Given the description of an element on the screen output the (x, y) to click on. 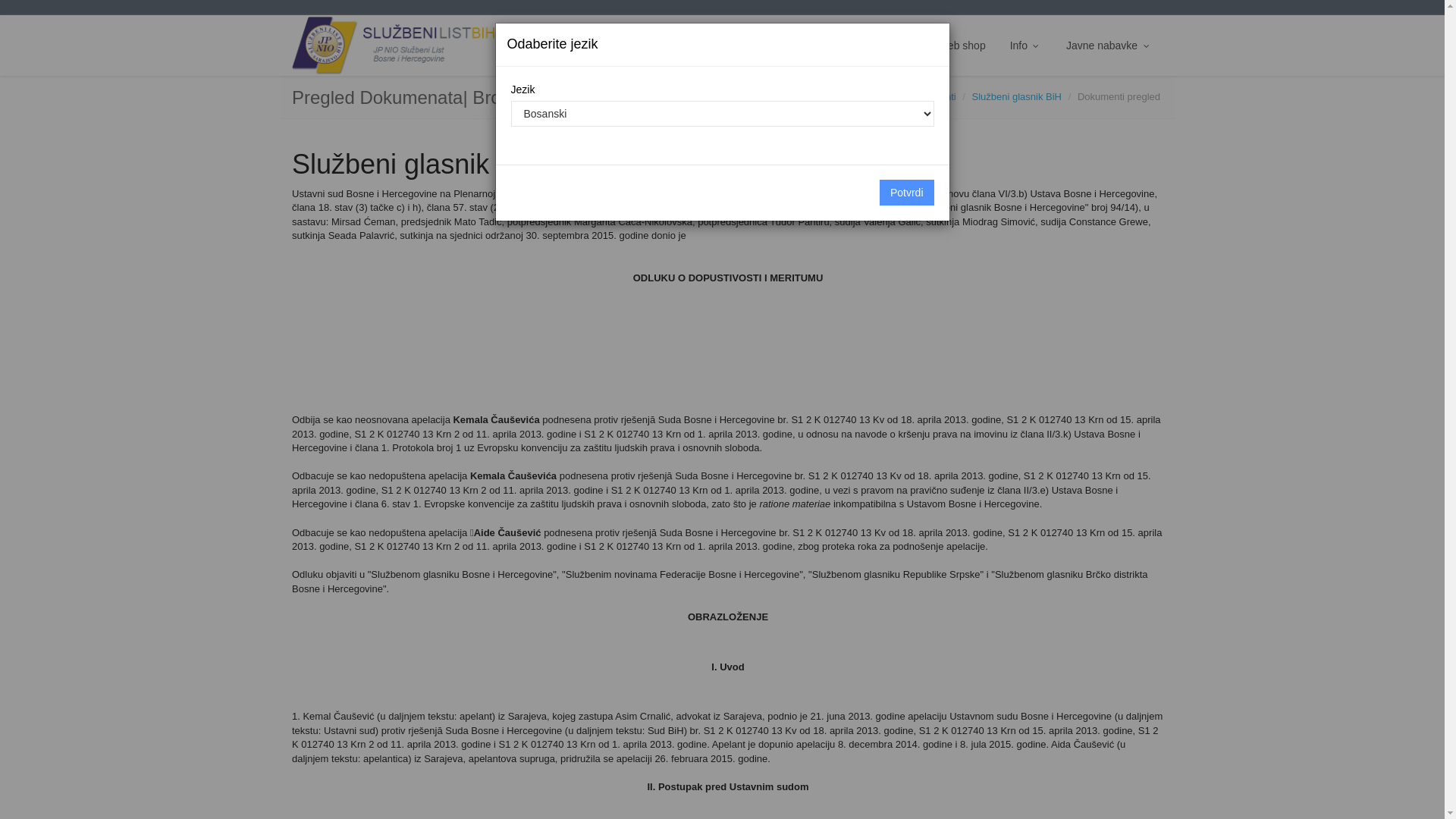
Info Element type: text (1025, 44)
Pretraga Element type: text (840, 44)
Vijesti Element type: text (899, 44)
Dokumenti Element type: text (931, 96)
Javne nabavke Element type: text (1109, 44)
Jezik Element type: text (577, 44)
Web shop Element type: text (961, 44)
Potvrdi Element type: text (906, 192)
